Given the description of an element on the screen output the (x, y) to click on. 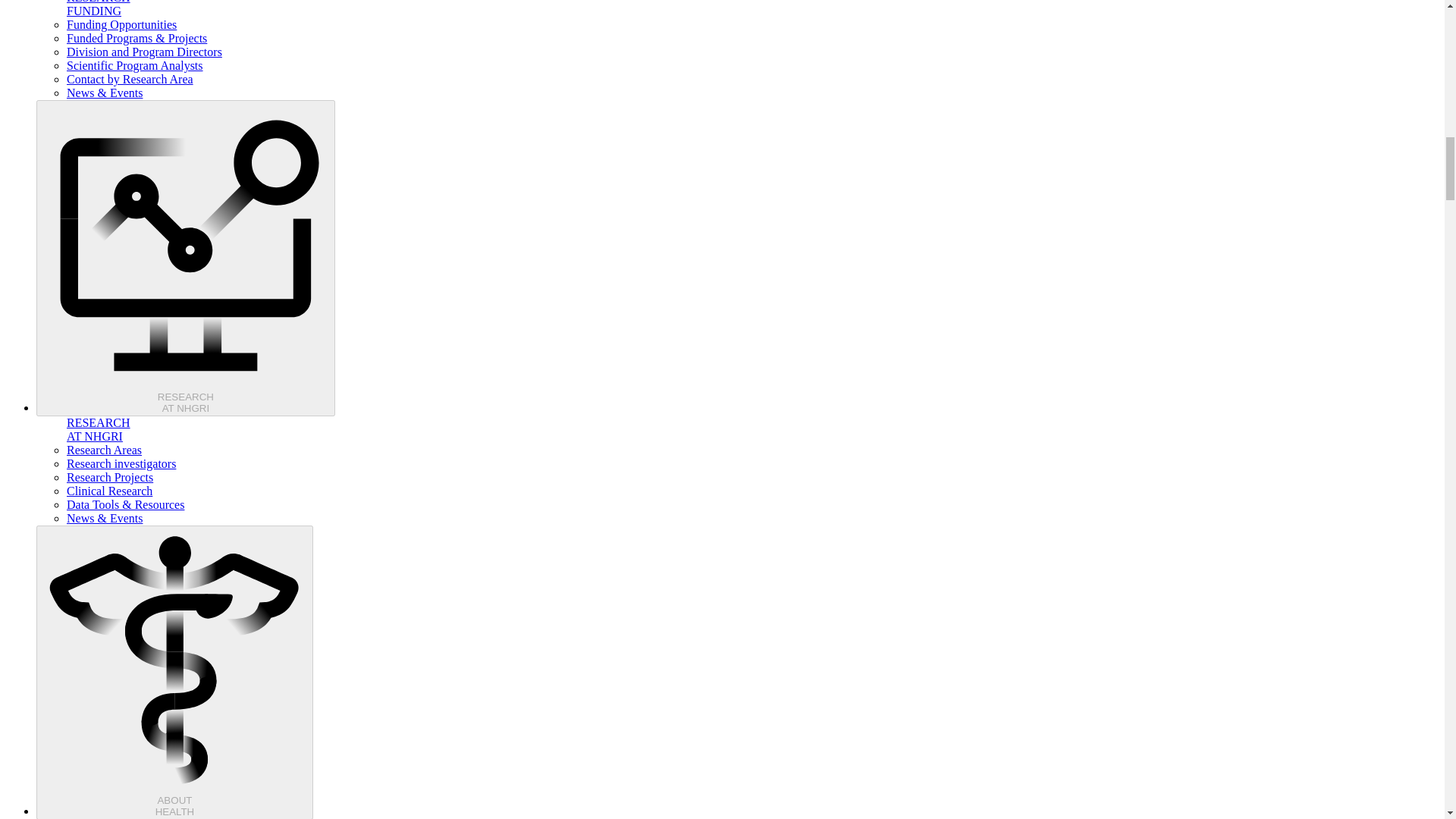
Research Projects (109, 477)
Funding Opportunities (185, 257)
Research Areas (121, 24)
Contact by Research Area (103, 449)
Clinical Research (129, 78)
Scientific Program Analysts (109, 490)
Research investigators (134, 65)
Division and Program Directors (121, 463)
